Given the description of an element on the screen output the (x, y) to click on. 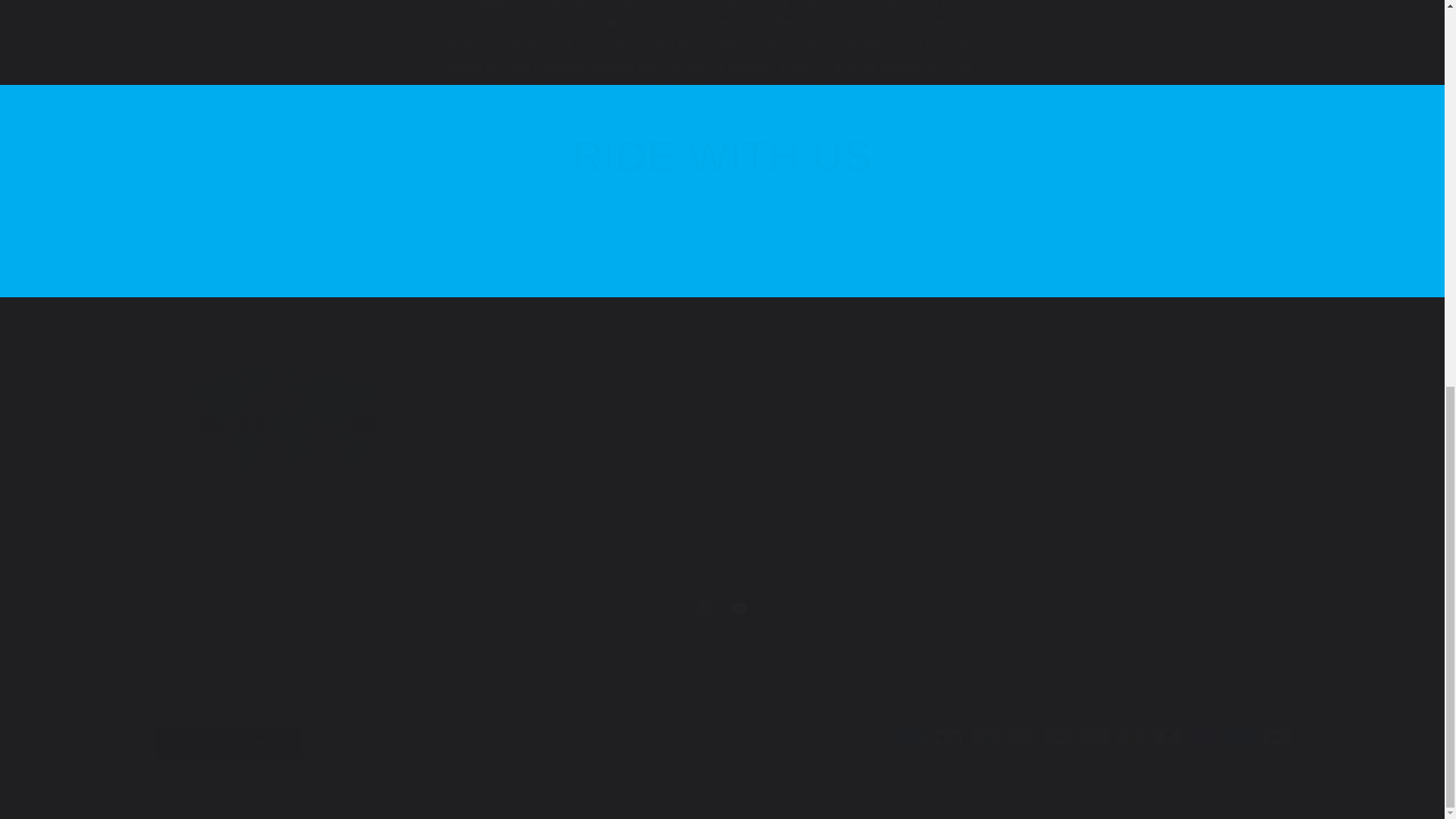
Email (722, 252)
RIDE WITH US (721, 607)
